Given the description of an element on the screen output the (x, y) to click on. 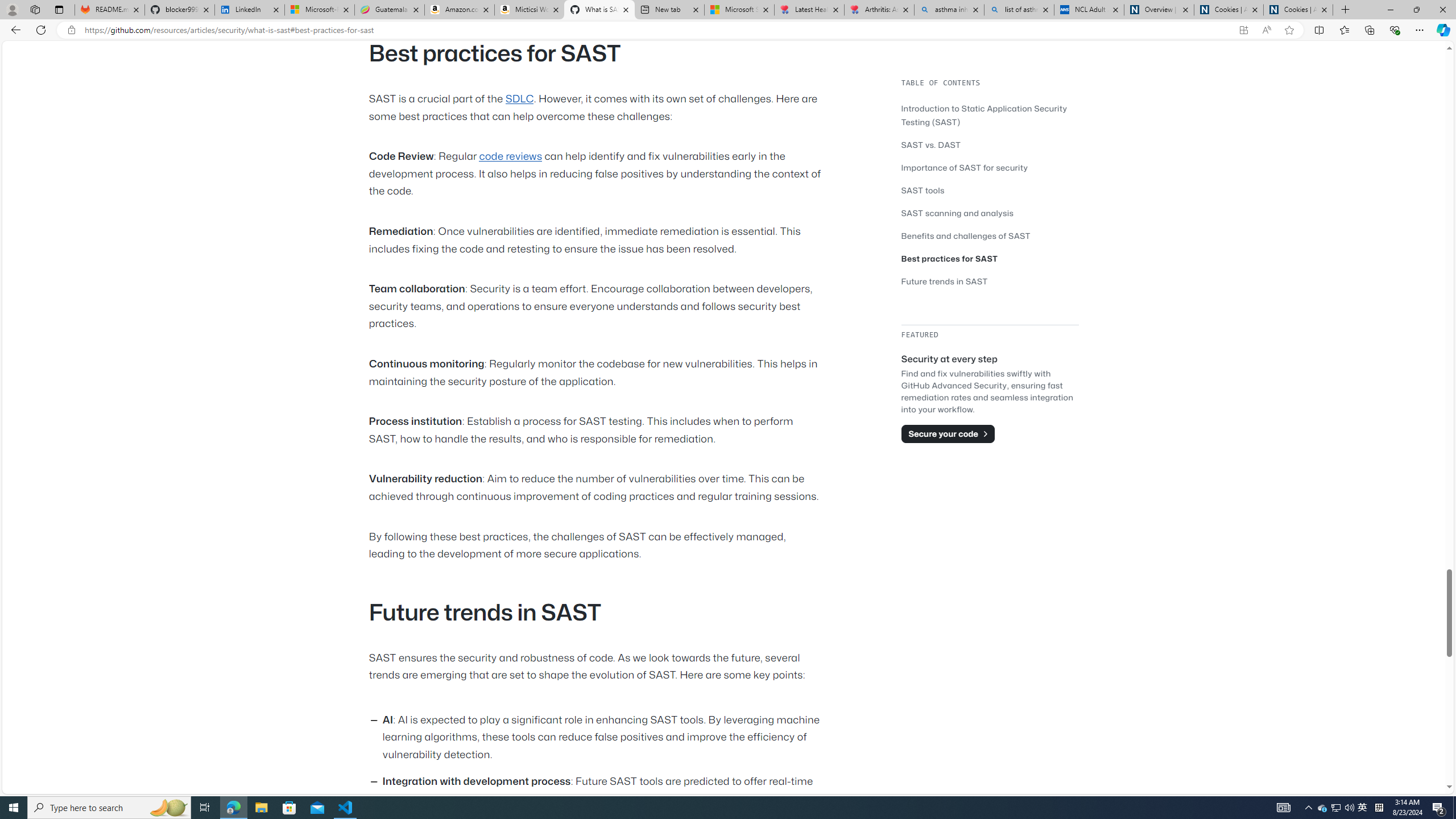
Importance of SAST for security (989, 167)
